Given the description of an element on the screen output the (x, y) to click on. 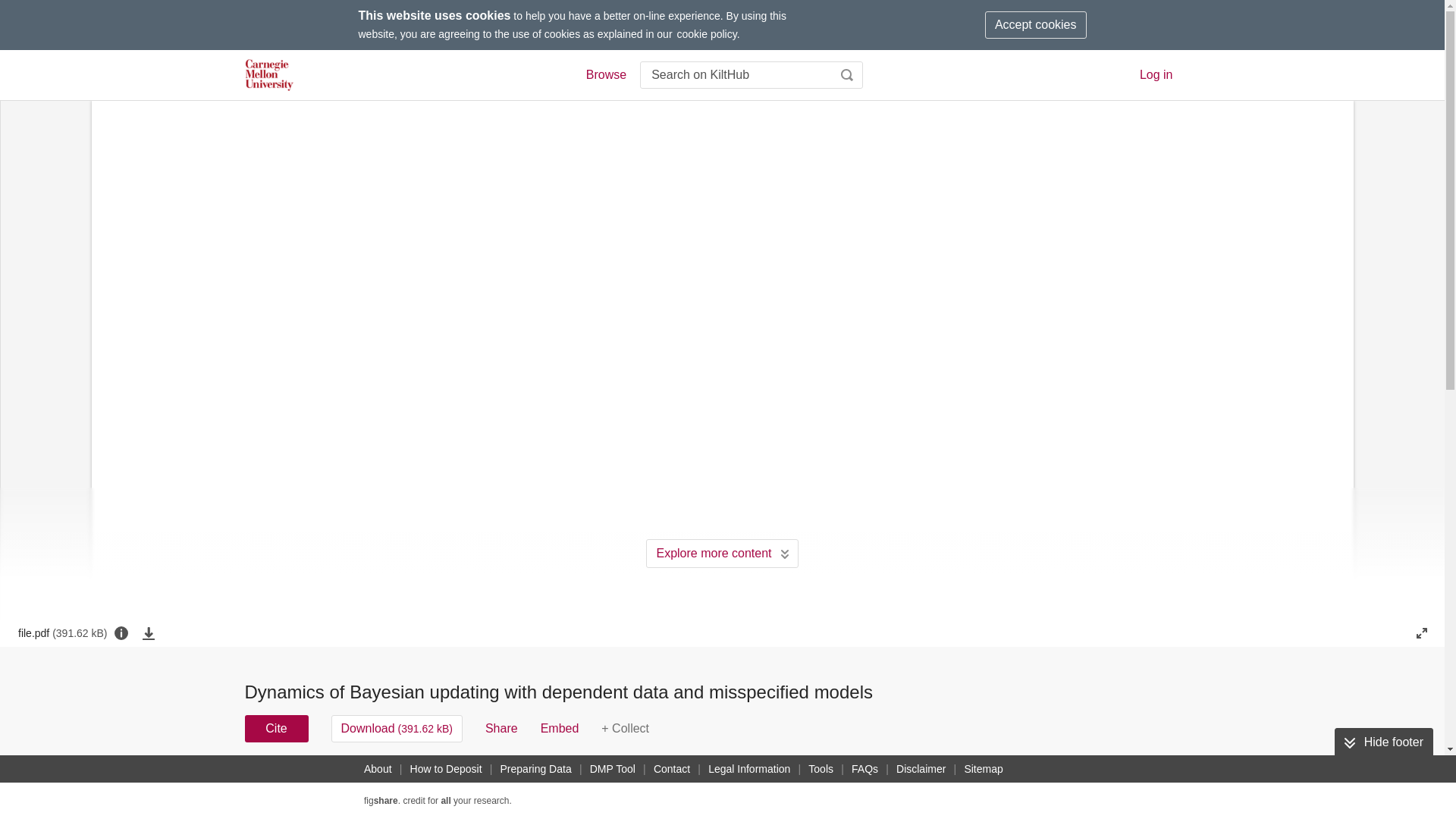
Share (501, 728)
you need to log in first (625, 728)
Browse (605, 75)
Cite (275, 728)
Cosma Shalizi (622, 778)
file.pdf (62, 633)
Explore more content (721, 553)
cookie policy (706, 33)
Log in (1156, 74)
USAGE METRICS (976, 782)
Accept cookies (1035, 24)
Embed (559, 728)
